Given the description of an element on the screen output the (x, y) to click on. 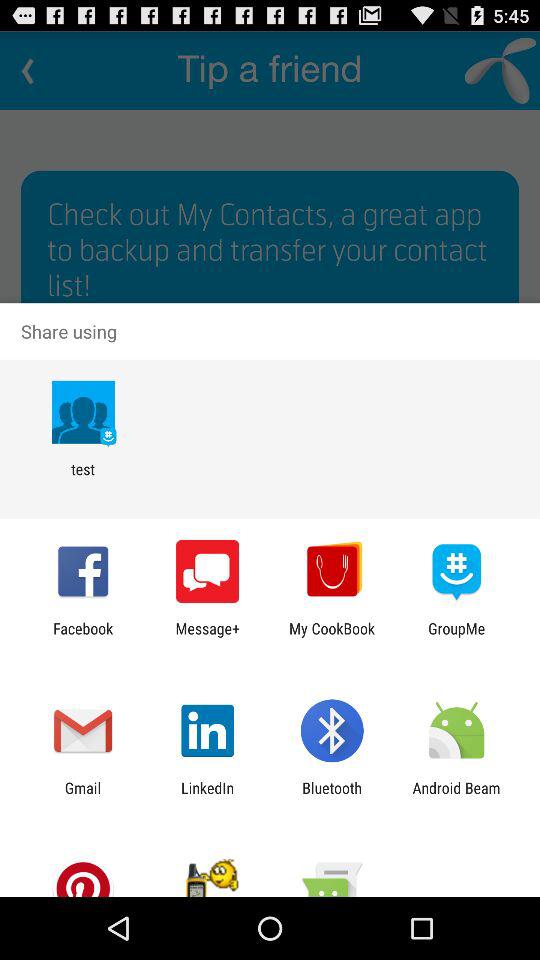
launch icon to the right of the linkedin app (331, 796)
